Given the description of an element on the screen output the (x, y) to click on. 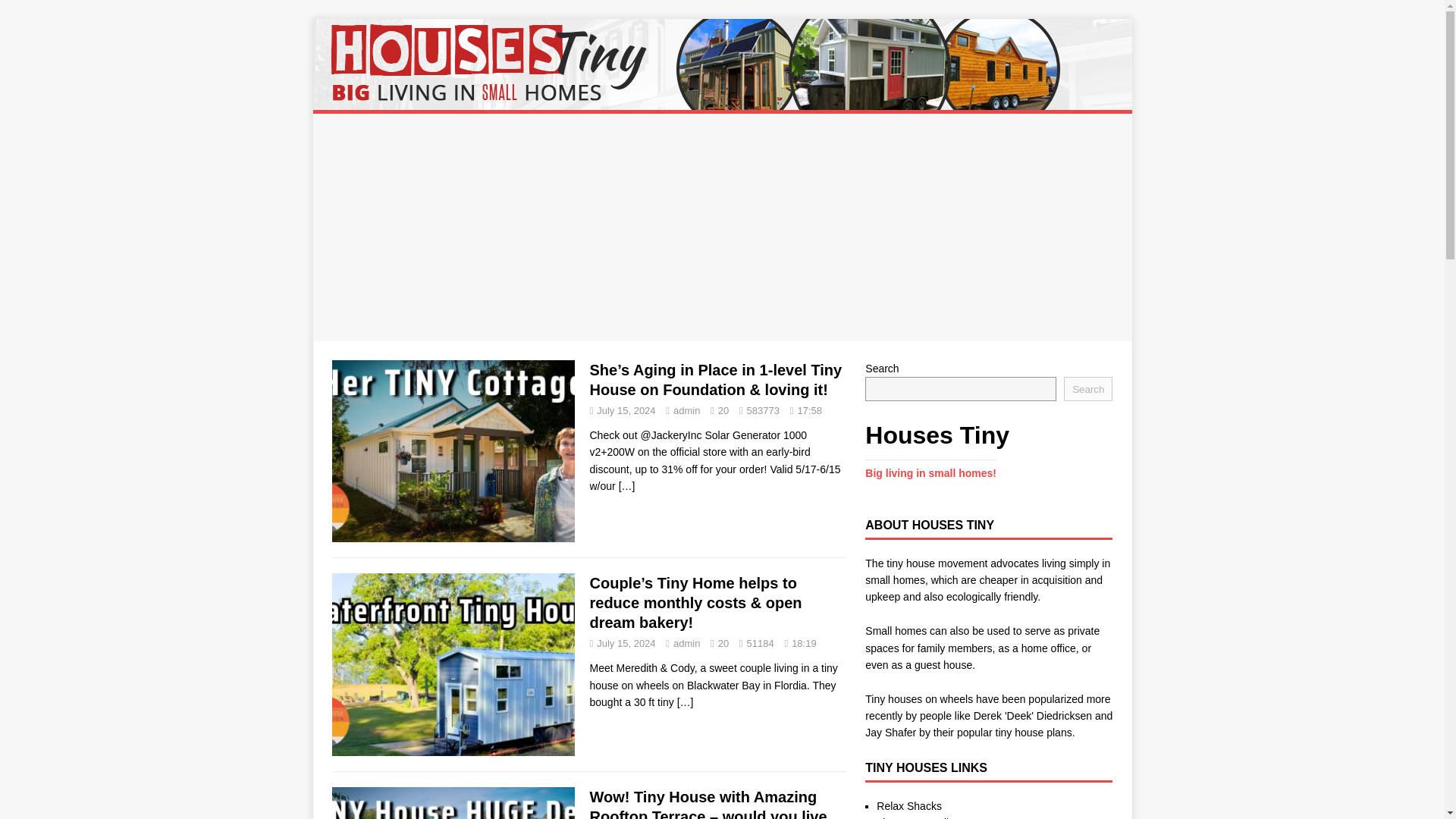
Houses Tiny (722, 101)
admin (686, 643)
20 (723, 410)
admin (686, 410)
20 (723, 643)
